Given the description of an element on the screen output the (x, y) to click on. 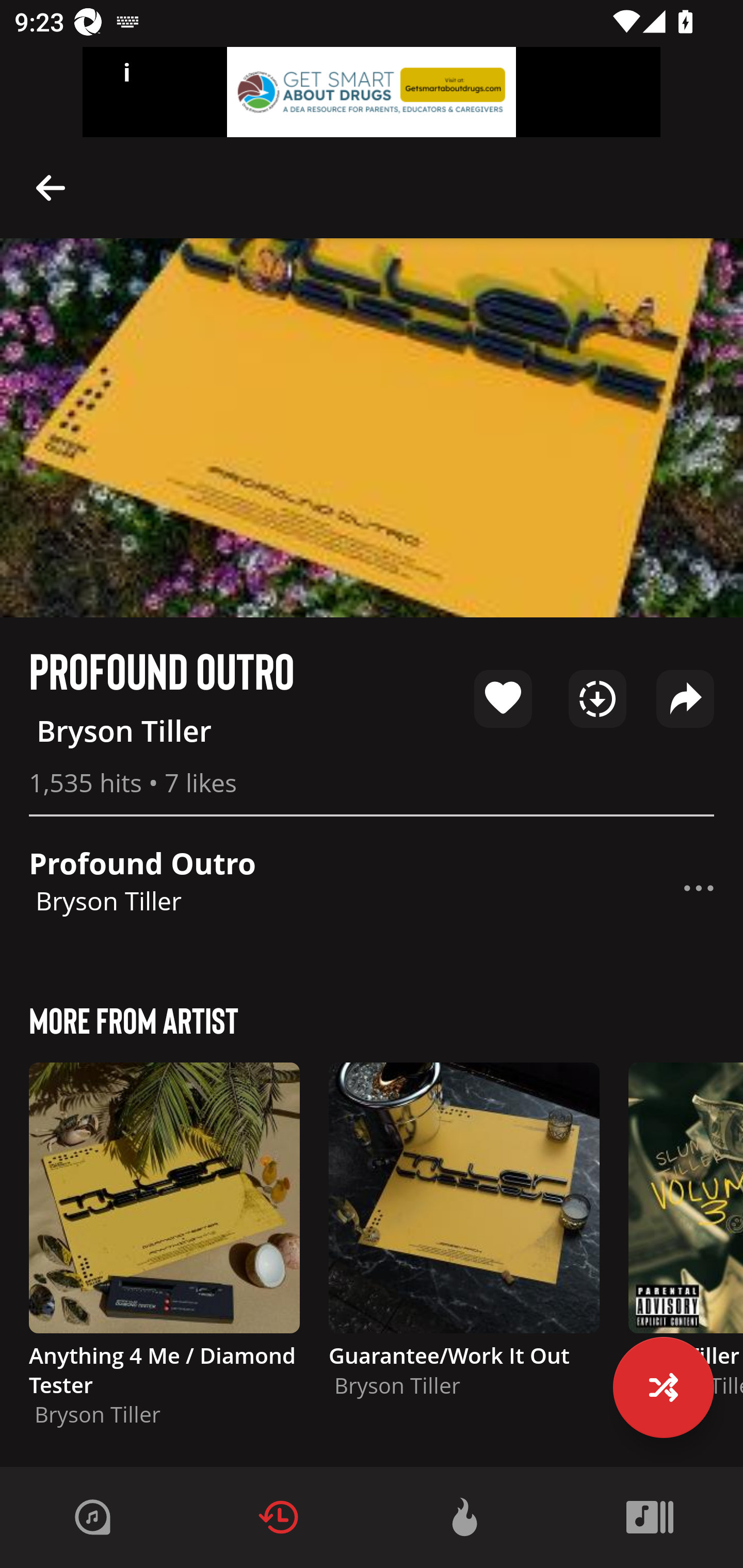
Description (50, 187)
Profound Outro  Bryson Tiller Description (371, 888)
Description (698, 888)
Description Guarantee/Work It Out  Bryson Tiller (463, 1238)
